Given the description of an element on the screen output the (x, y) to click on. 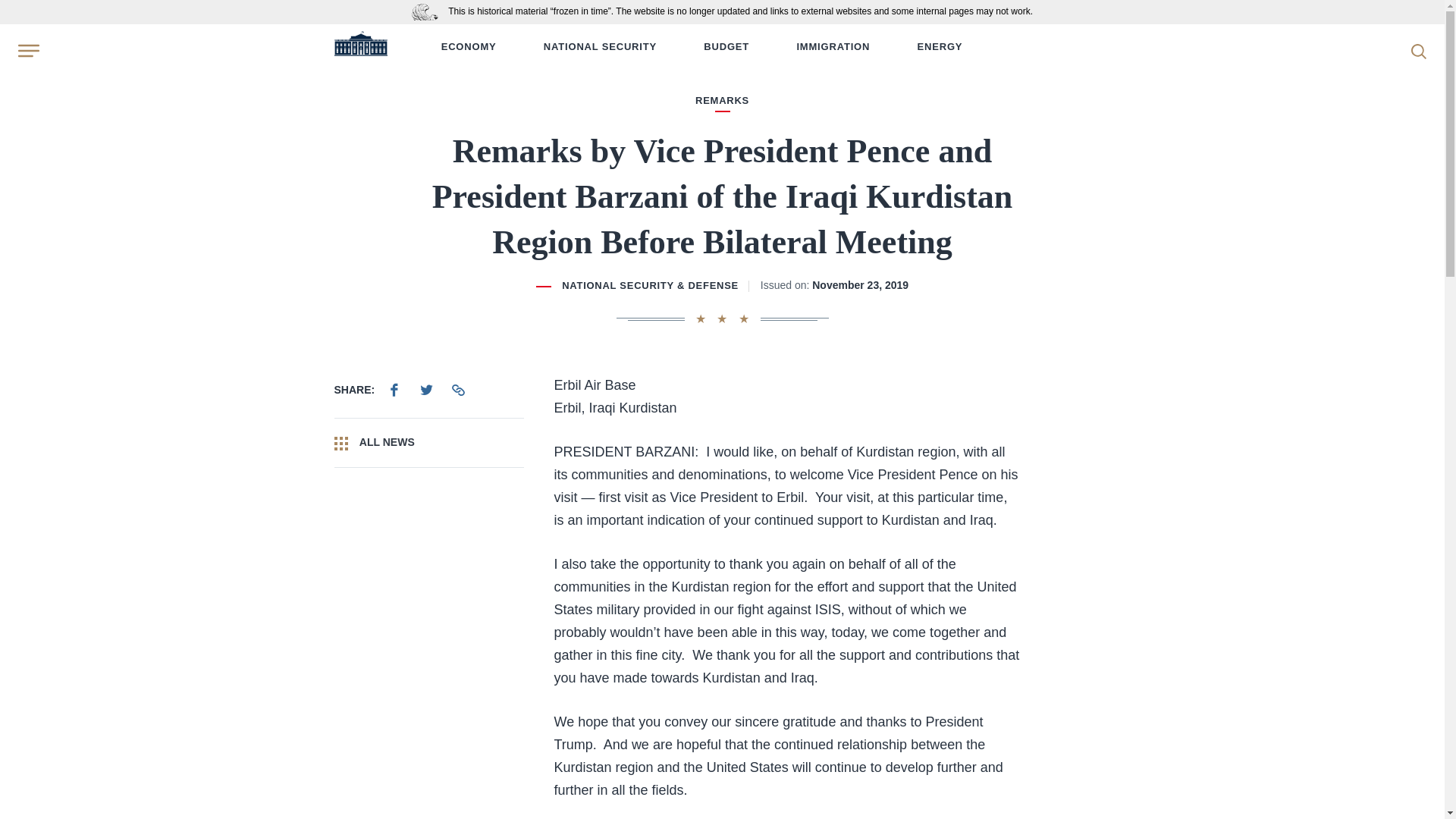
IMMIGRATION (832, 46)
ENERGY (939, 46)
BUDGET (726, 46)
ALL NEWS (427, 442)
ECONOMY (468, 46)
NATIONAL SECURITY (599, 46)
WhiteHouse.gov (360, 46)
National Archives (428, 10)
